Given the description of an element on the screen output the (x, y) to click on. 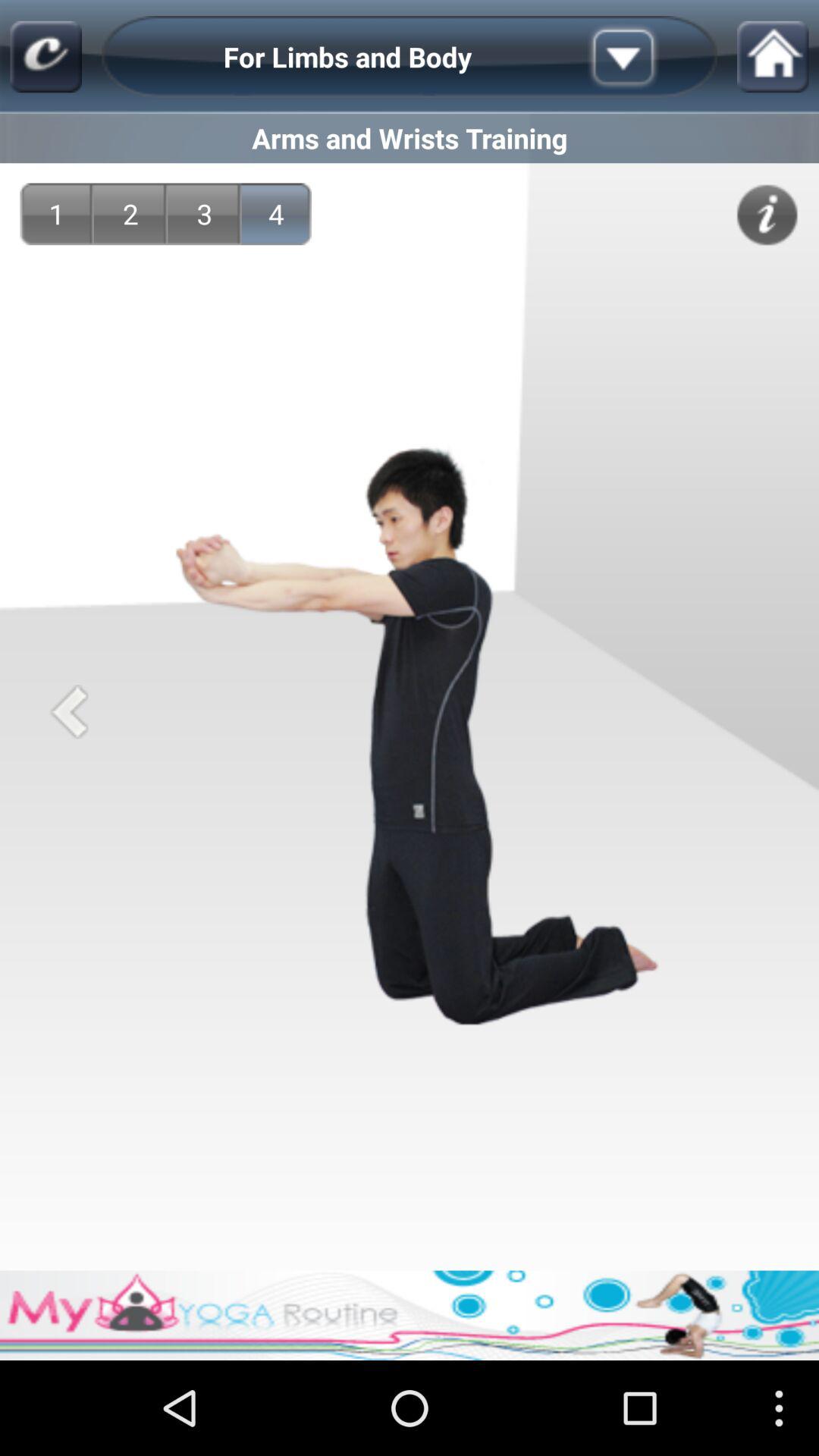
turn on app to the right of the for limbs and app (646, 56)
